Given the description of an element on the screen output the (x, y) to click on. 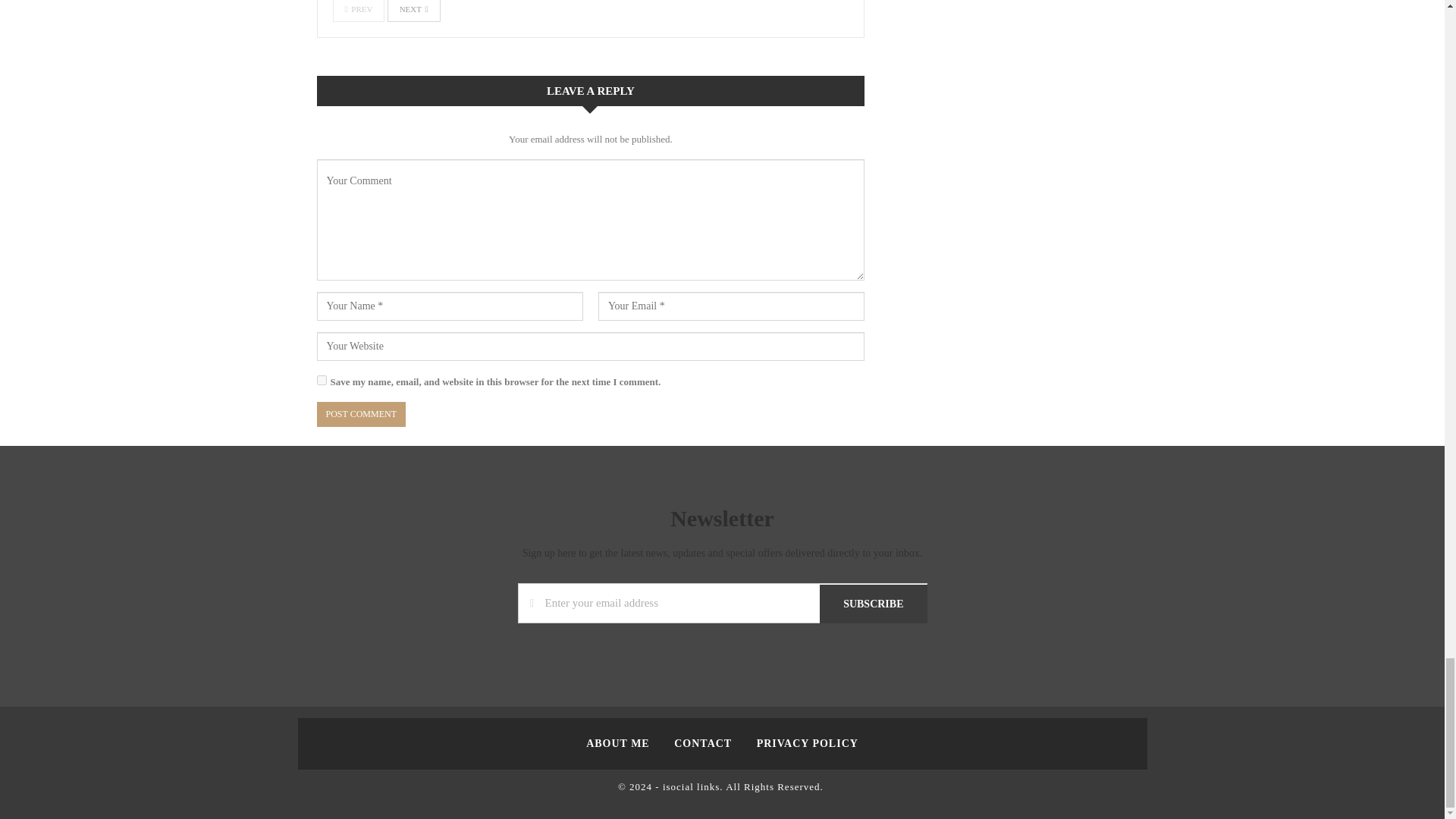
Post Comment (361, 414)
yes (321, 379)
